Given the description of an element on the screen output the (x, y) to click on. 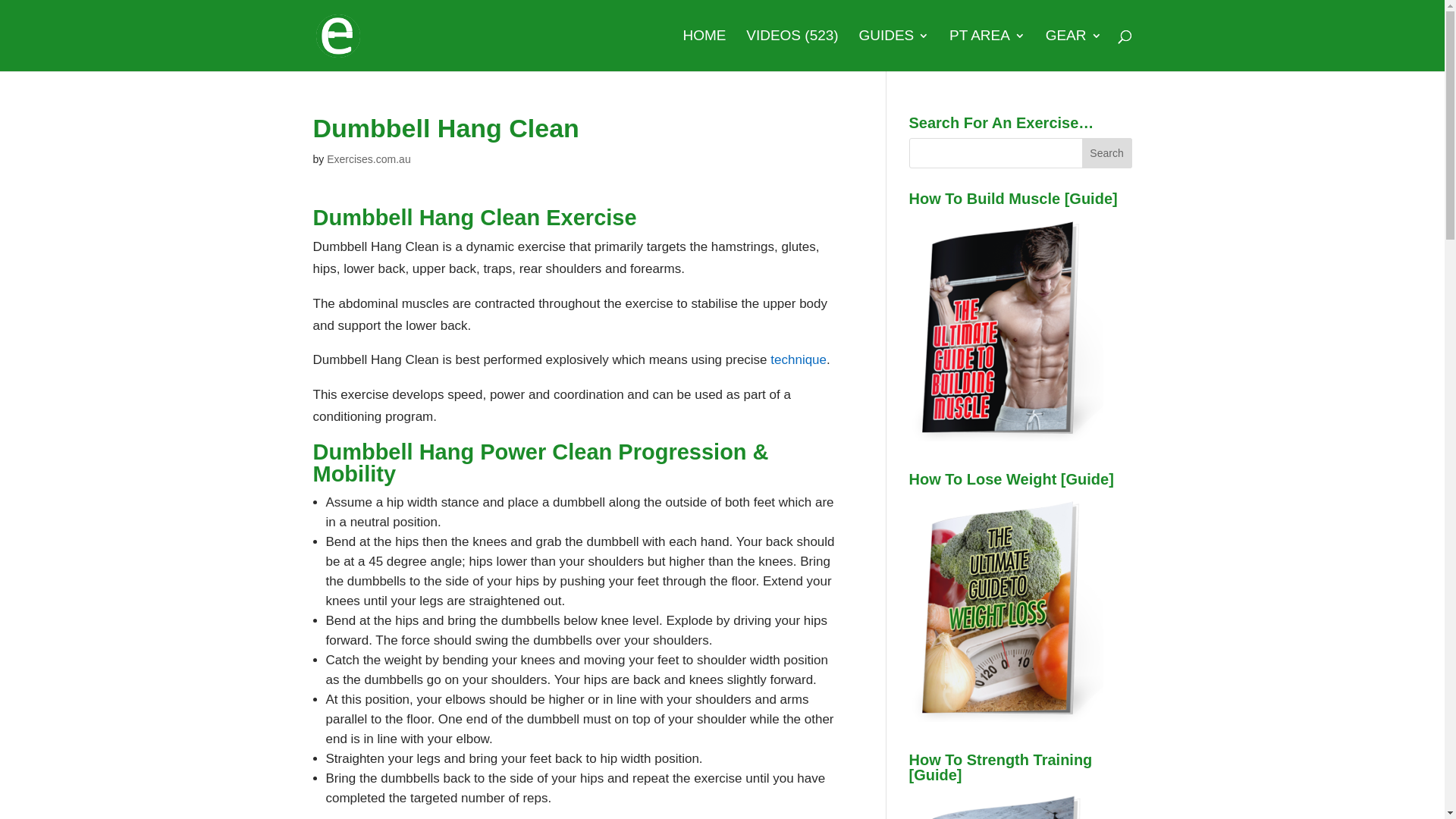
GEAR Element type: text (1073, 50)
HOME Element type: text (703, 50)
Search Element type: text (1107, 153)
PT AREA Element type: text (987, 50)
technique Element type: text (798, 359)
Exercises.com.au Element type: text (368, 159)
GUIDES Element type: text (893, 50)
VIDEOS (523) Element type: text (791, 50)
